Given the description of an element on the screen output the (x, y) to click on. 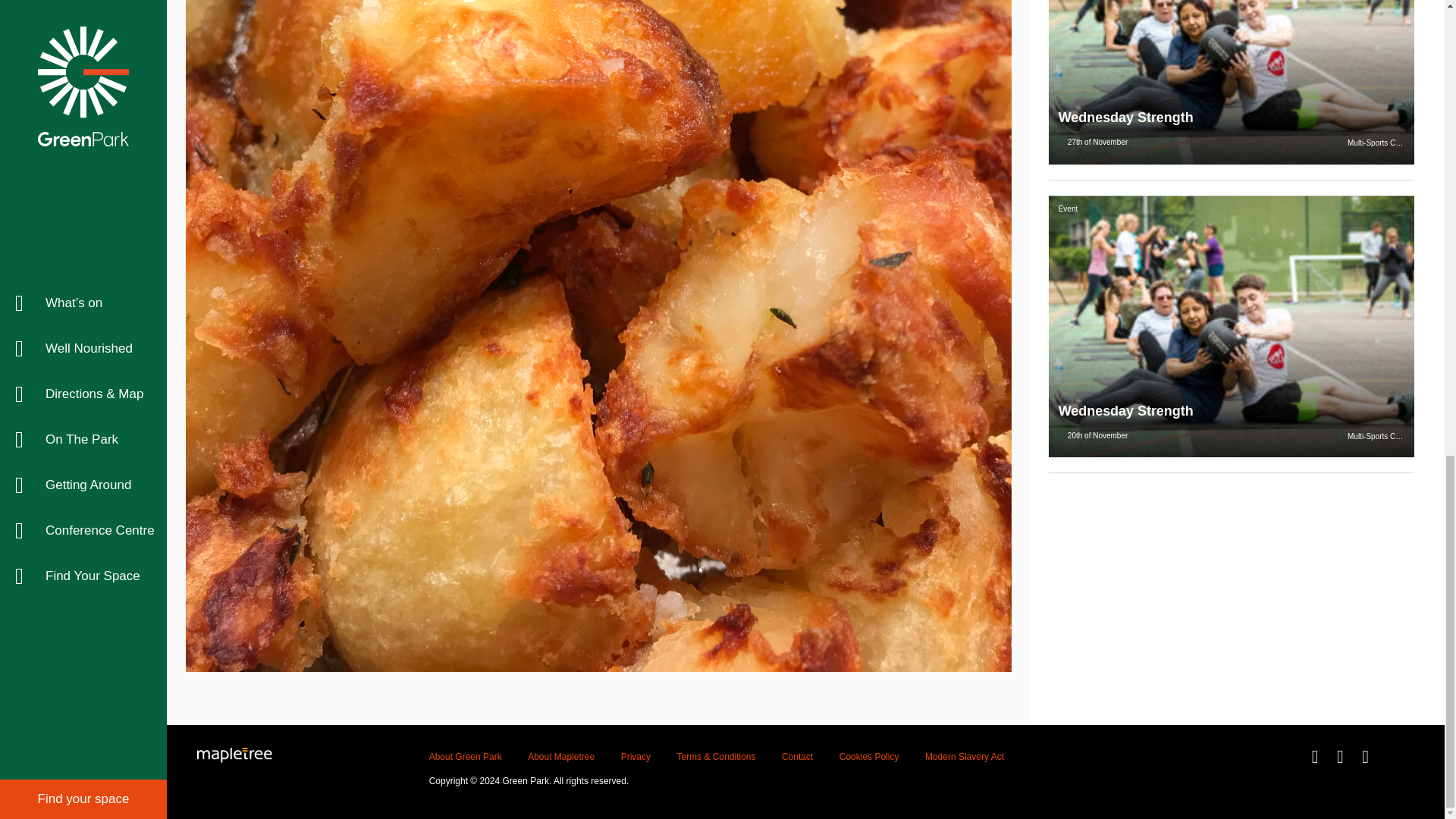
Contact (796, 756)
Privacy (635, 756)
About Green Park (465, 756)
About Mapletree (560, 756)
Cookies Policy (869, 756)
Modern Slavery Act (964, 756)
